Given the description of an element on the screen output the (x, y) to click on. 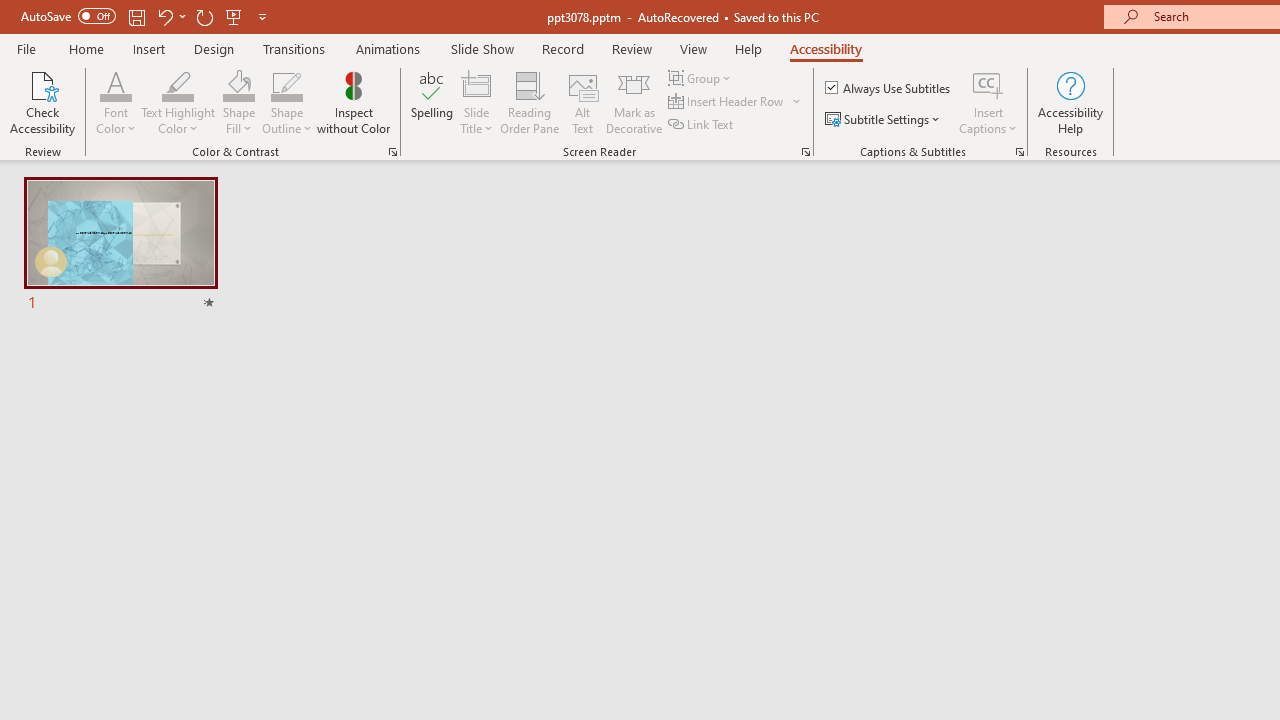
Insert Captions (988, 102)
Insert Header Row (727, 101)
Insert Captions (988, 84)
Always Use Subtitles (889, 87)
Accessibility Help (1070, 102)
Link Text (702, 124)
Alt Text (582, 102)
